Given the description of an element on the screen output the (x, y) to click on. 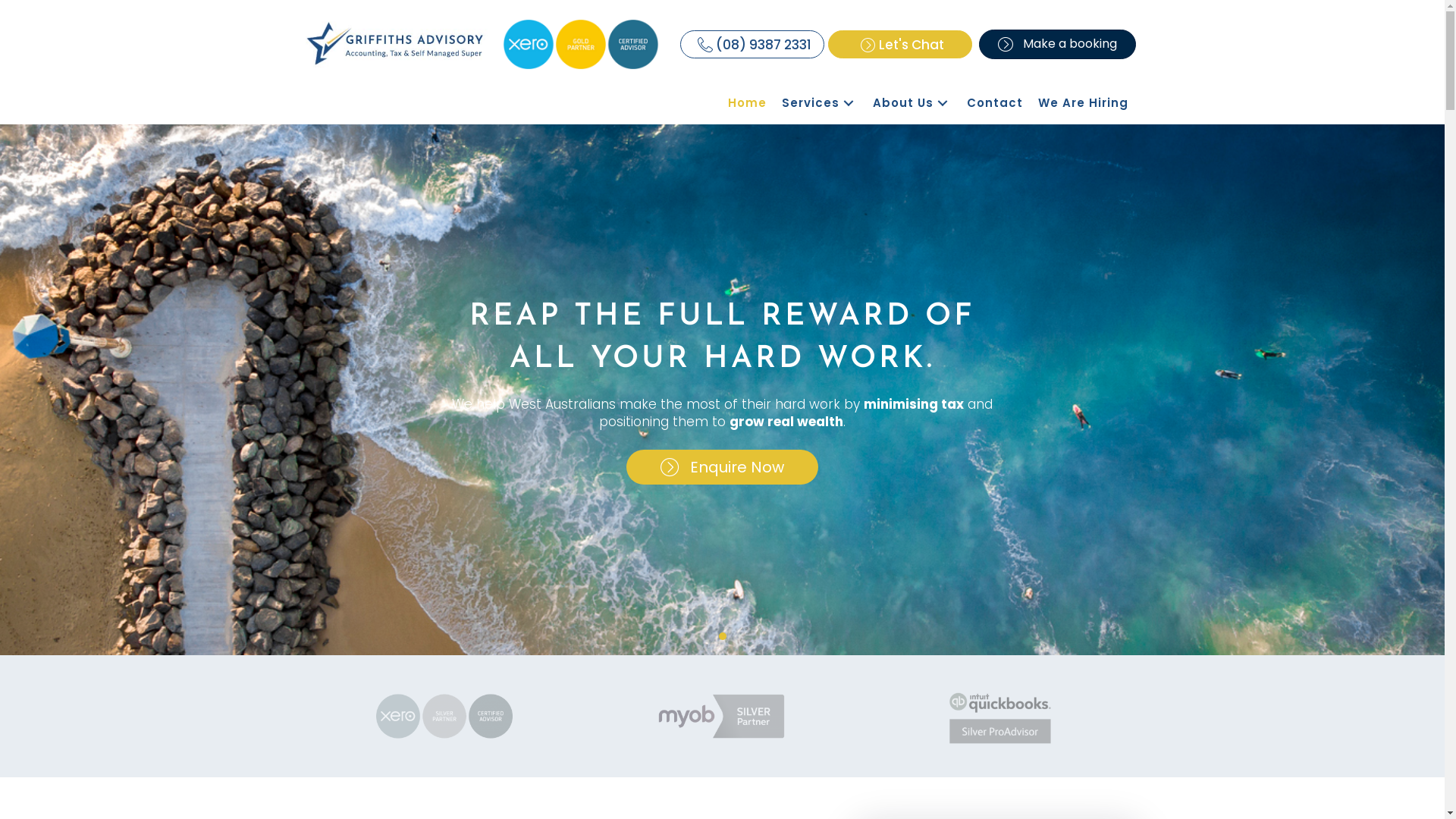
Home Element type: text (747, 102)
Quick Books Sliver Advisor Logo Element type: hover (999, 716)
Contact Element type: text (993, 102)
xero-img Element type: hover (580, 43)
Services Element type: text (818, 102)
Make a booking Element type: text (1057, 44)
(08) 9387 2331 Element type: text (752, 44)
MYOB Silver Partner Logo Element type: hover (721, 716)
Griffiths-Advisory-Logo Element type: hover (395, 44)
Let'S Chat Element type: text (900, 44)
About Us Element type: text (911, 102)
We Are Hiring Element type: text (1082, 102)
Xero Silver Partner Logo Element type: hover (444, 715)
